Given the description of an element on the screen output the (x, y) to click on. 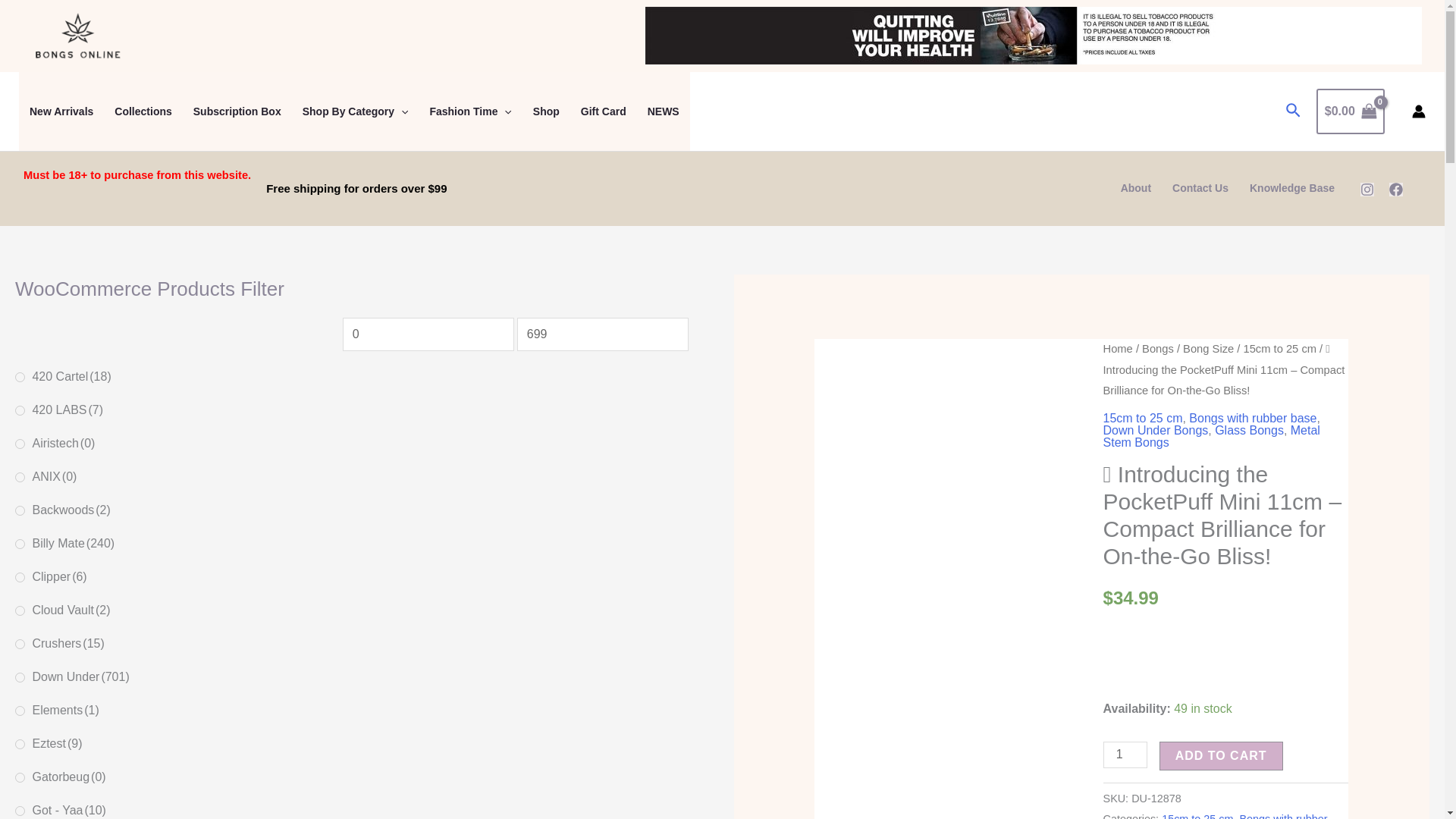
151 (19, 744)
Subscription Box (237, 111)
0 (427, 334)
145 (19, 677)
499 (19, 577)
699 (602, 334)
Collections (142, 111)
439 (19, 410)
559 (19, 510)
Shop By Category (355, 111)
623 (19, 610)
649 (19, 644)
New Arrivals (60, 111)
326 (19, 810)
143 (19, 543)
